Given the description of an element on the screen output the (x, y) to click on. 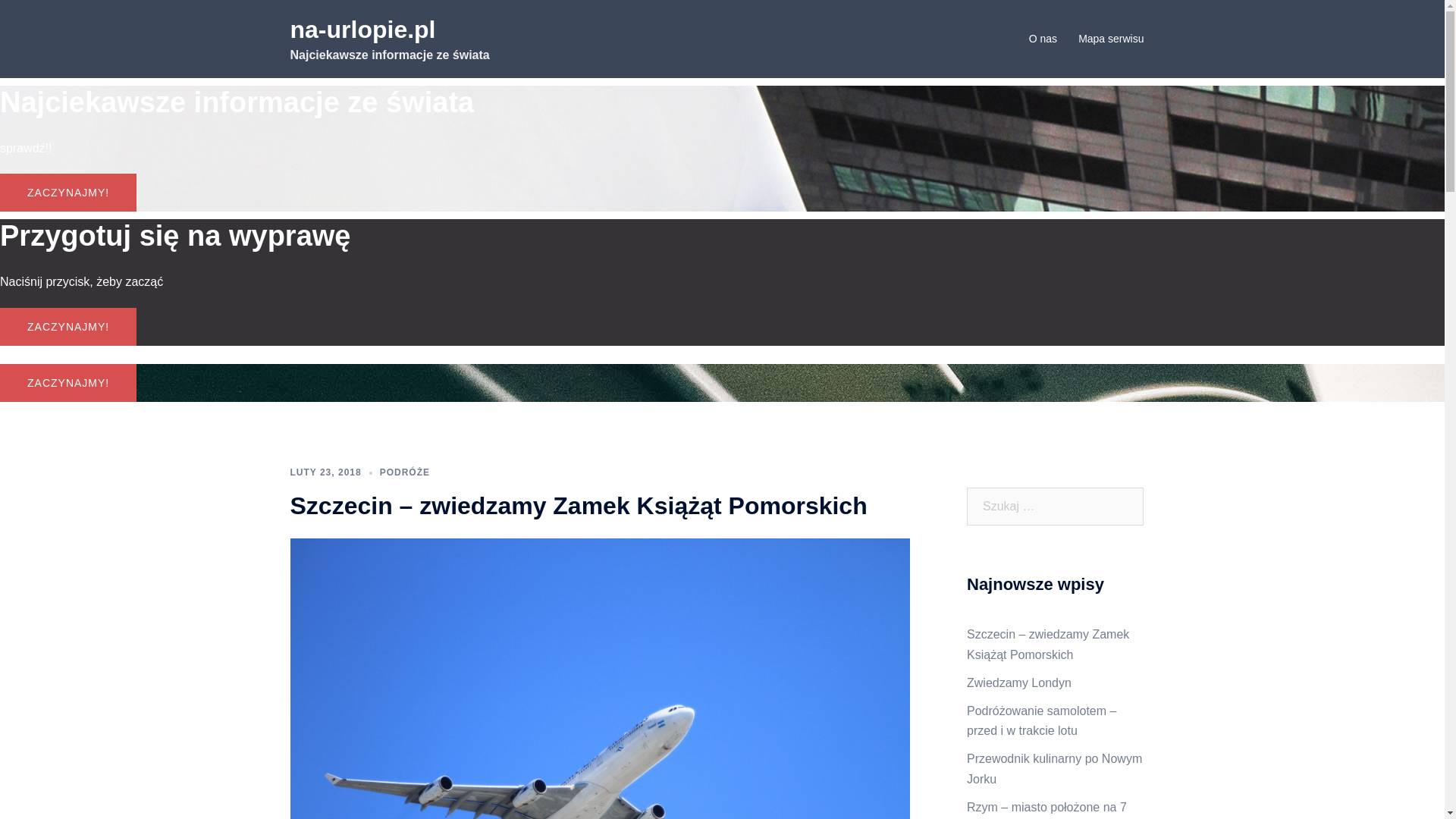
ZACZYNAJMY! Element type: text (68, 326)
Szukaj Element type: text (47, 18)
ZACZYNAJMY! Element type: text (68, 192)
O nas Element type: text (1043, 39)
Zwiedzamy Londyn Element type: text (1018, 682)
Mapa serwisu Element type: text (1110, 39)
na-urlopie.pl Element type: text (362, 29)
LUTY 23, 2018 Element type: text (324, 472)
ZACZYNAJMY! Element type: text (68, 382)
Przewodnik kulinarny po Nowym Jorku Element type: text (1054, 768)
